Given the description of an element on the screen output the (x, y) to click on. 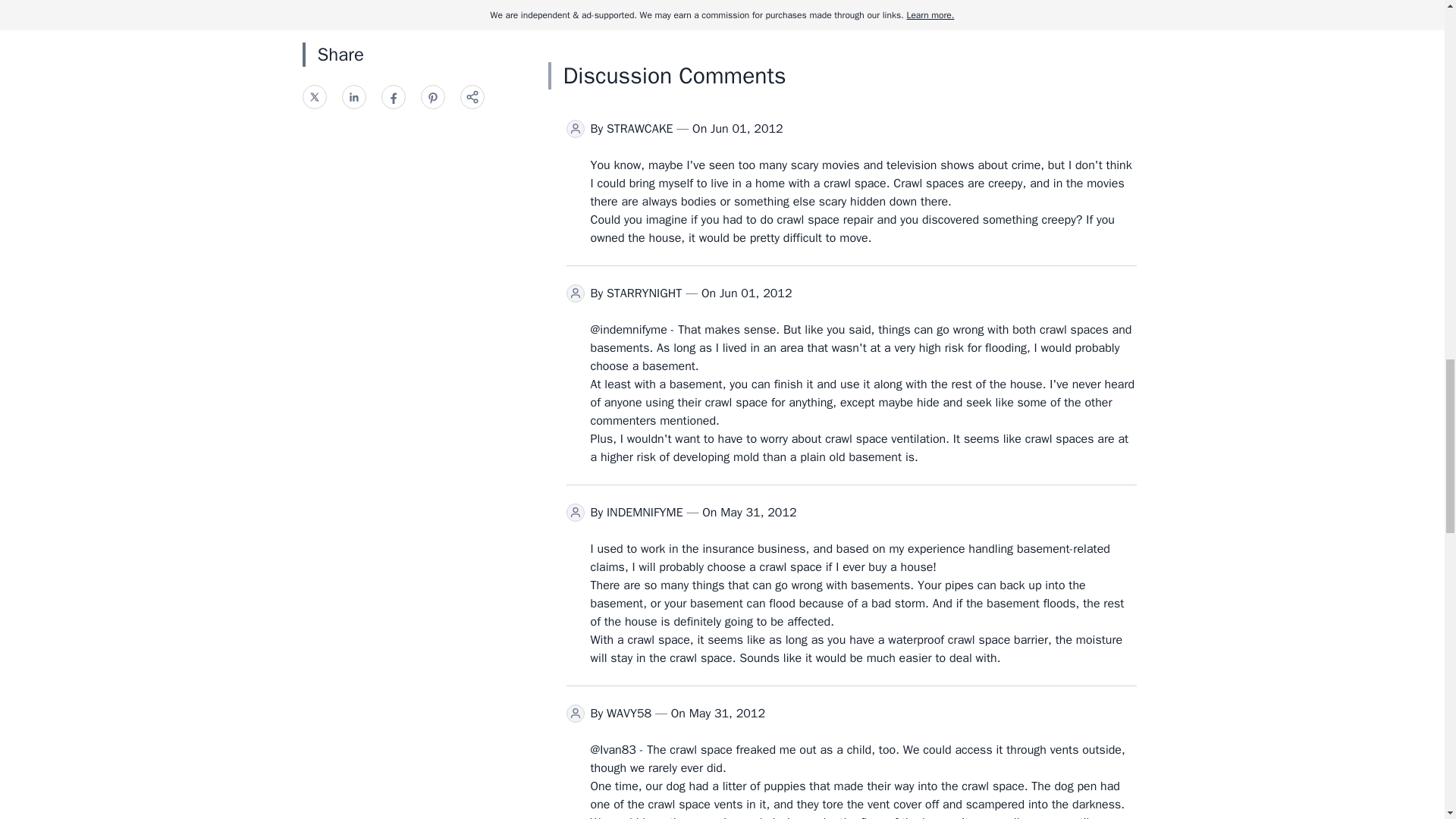
What are Fatigue Cracks? (850, 18)
